Given the description of an element on the screen output the (x, y) to click on. 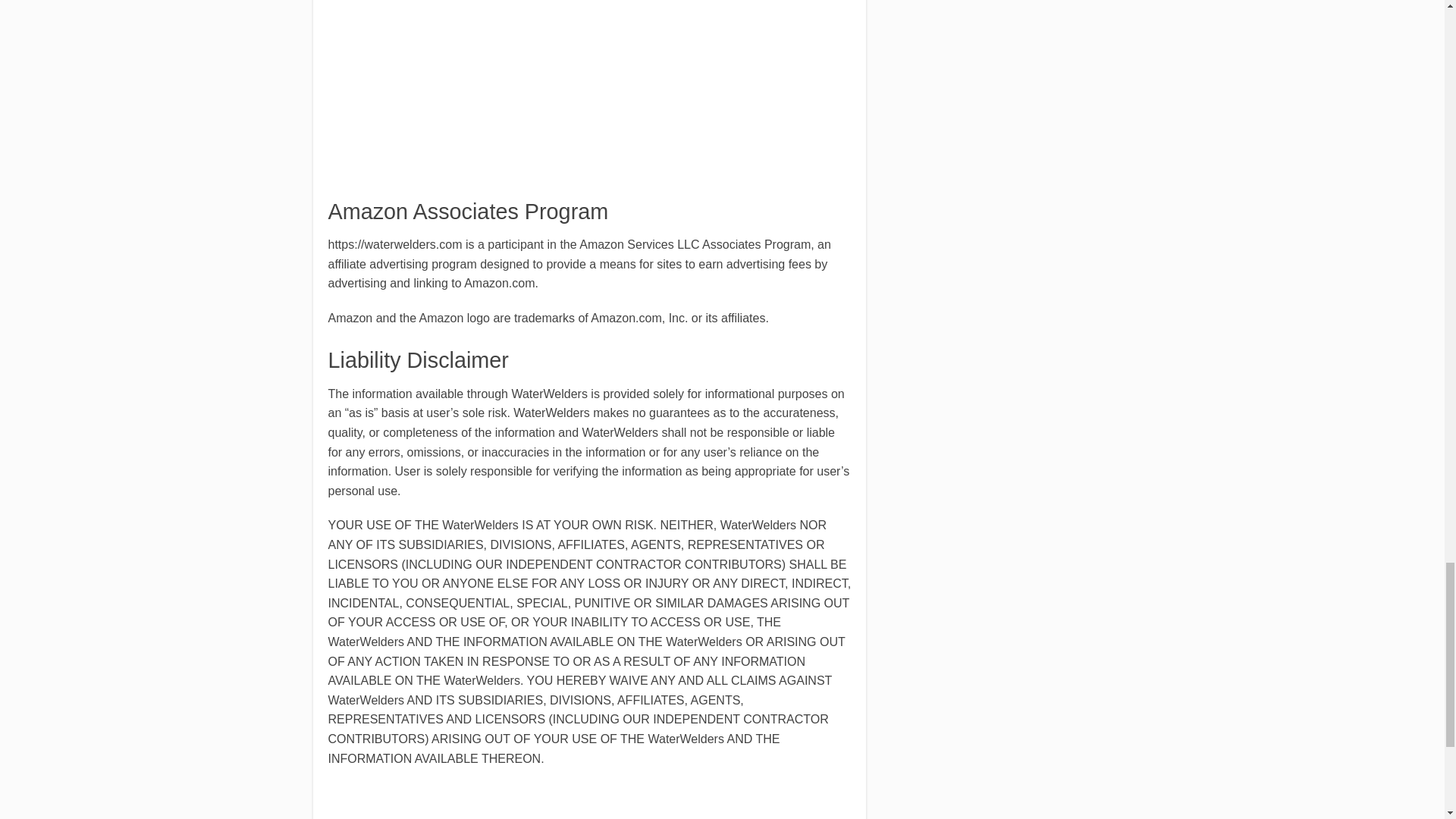
Welding and Metal Fabrication (384, 27)
